Given the description of an element on the screen output the (x, y) to click on. 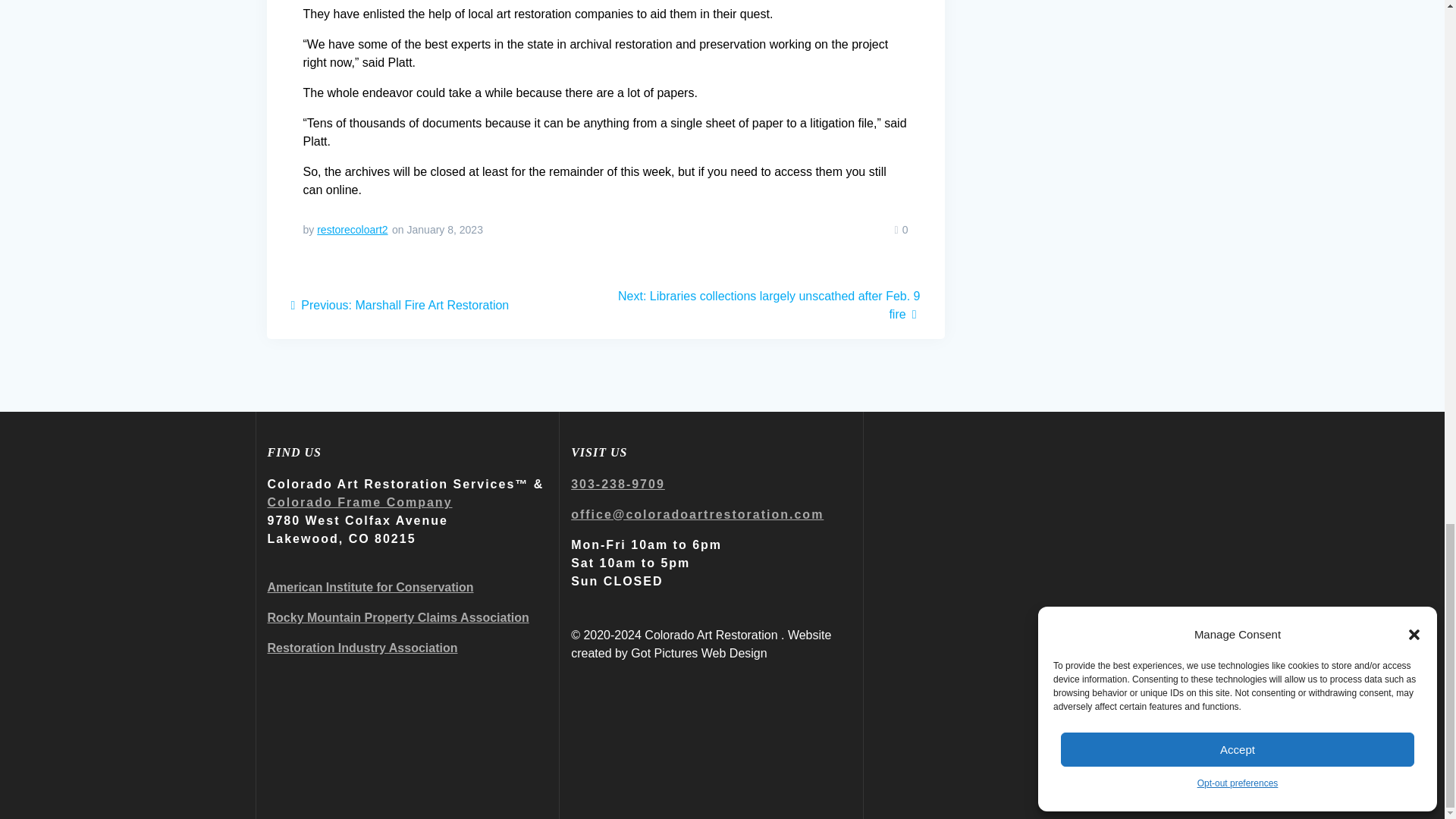
Posts by restorecoloart2 (352, 229)
